Given the description of an element on the screen output the (x, y) to click on. 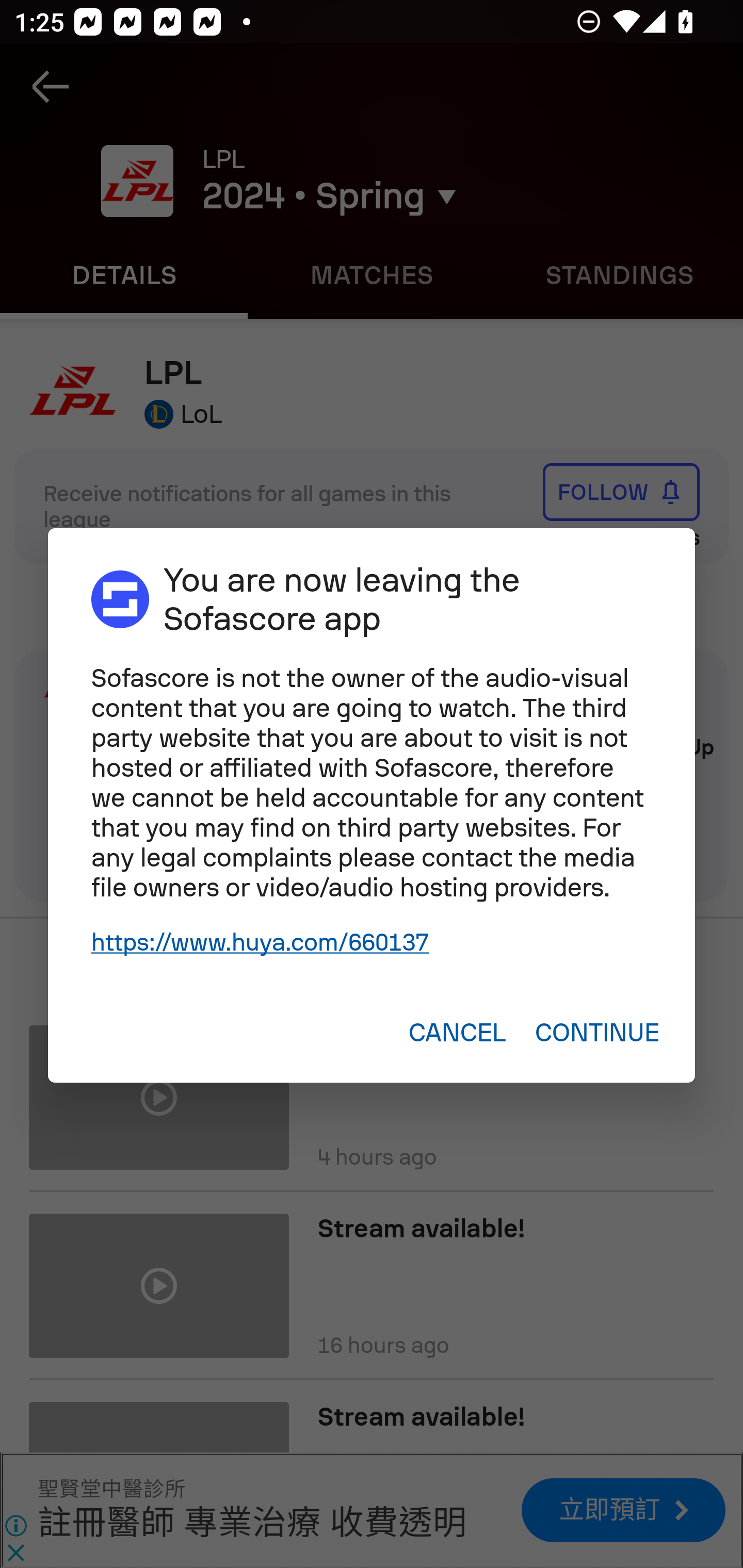
CANCEL (456, 1032)
CONTINUE (596, 1032)
